Given the description of an element on the screen output the (x, y) to click on. 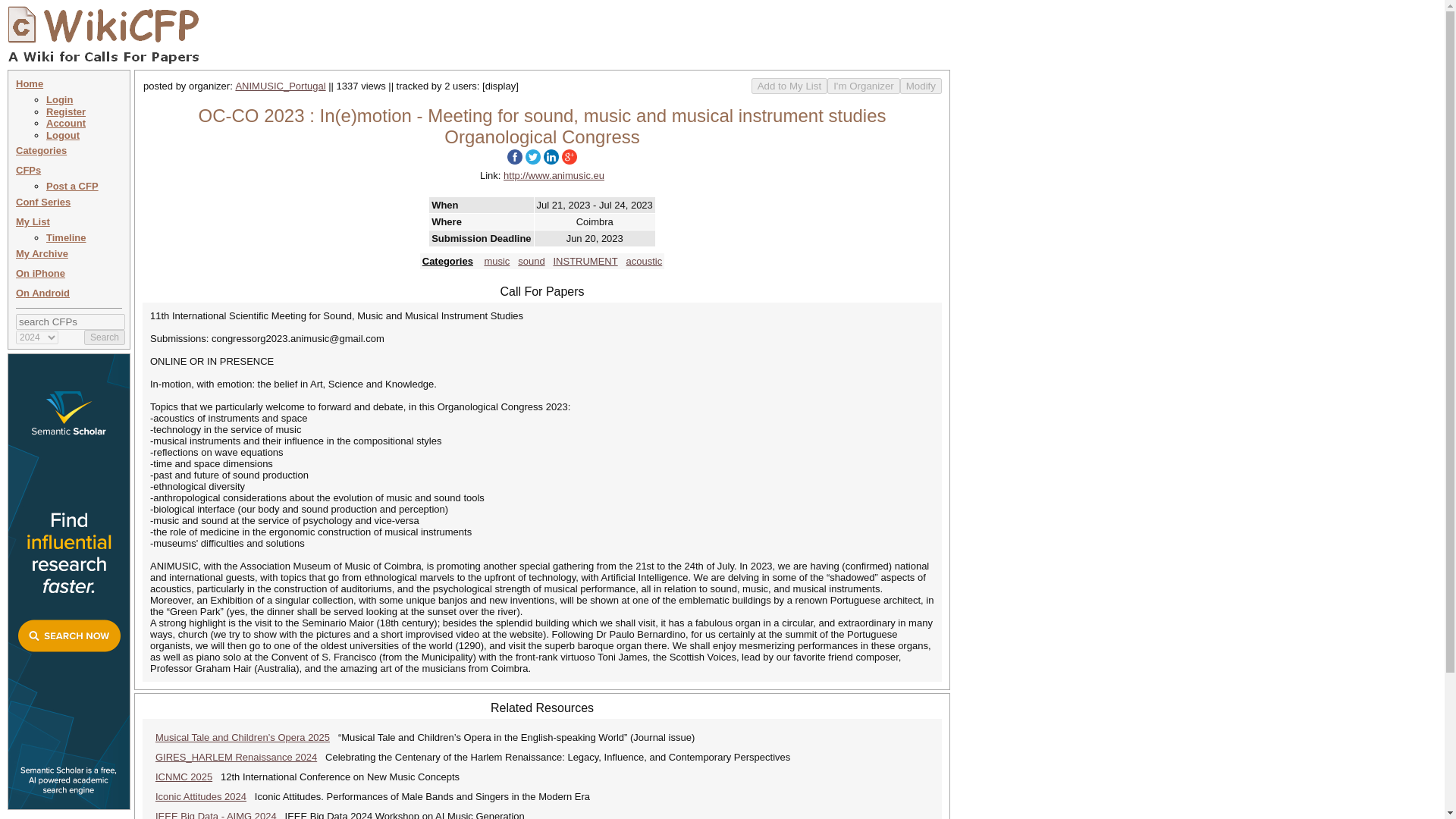
Search (104, 337)
Search (104, 337)
I'm Organizer (863, 85)
Categories (447, 260)
Categories (41, 150)
ICNMC 2025 (183, 776)
Login (59, 99)
My List (32, 221)
acoustic (644, 260)
Conf Series (42, 202)
INSTRUMENT (585, 260)
display (499, 85)
On Android (42, 292)
Iconic Attitudes 2024 (200, 796)
Home (29, 83)
